Given the description of an element on the screen output the (x, y) to click on. 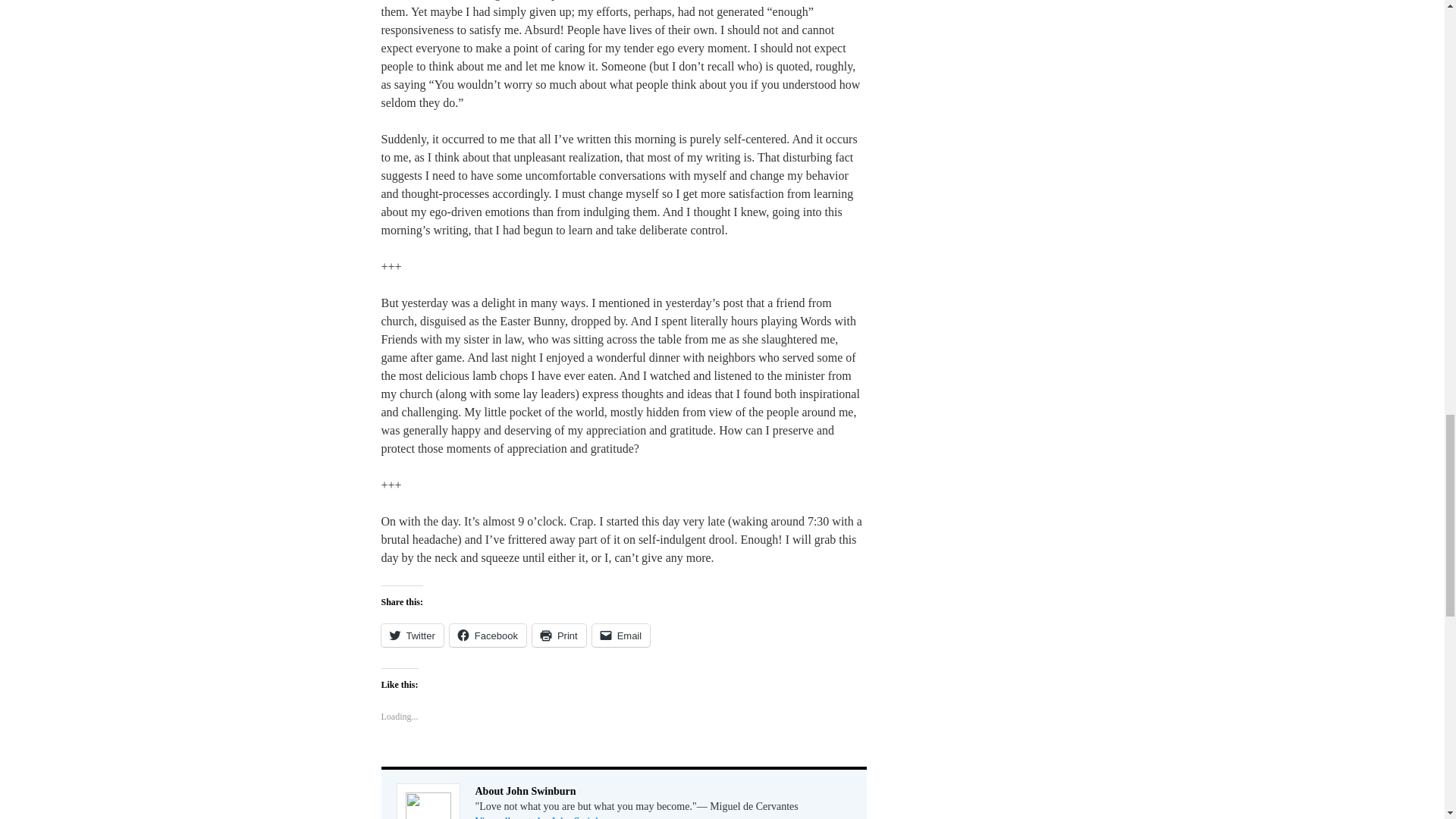
Click to email a link to a friend (621, 635)
Twitter (411, 635)
Facebook (487, 635)
Click to share on Twitter (411, 635)
Click to print (559, 635)
Print (559, 635)
Click to share on Facebook (487, 635)
Email (621, 635)
